Given the description of an element on the screen output the (x, y) to click on. 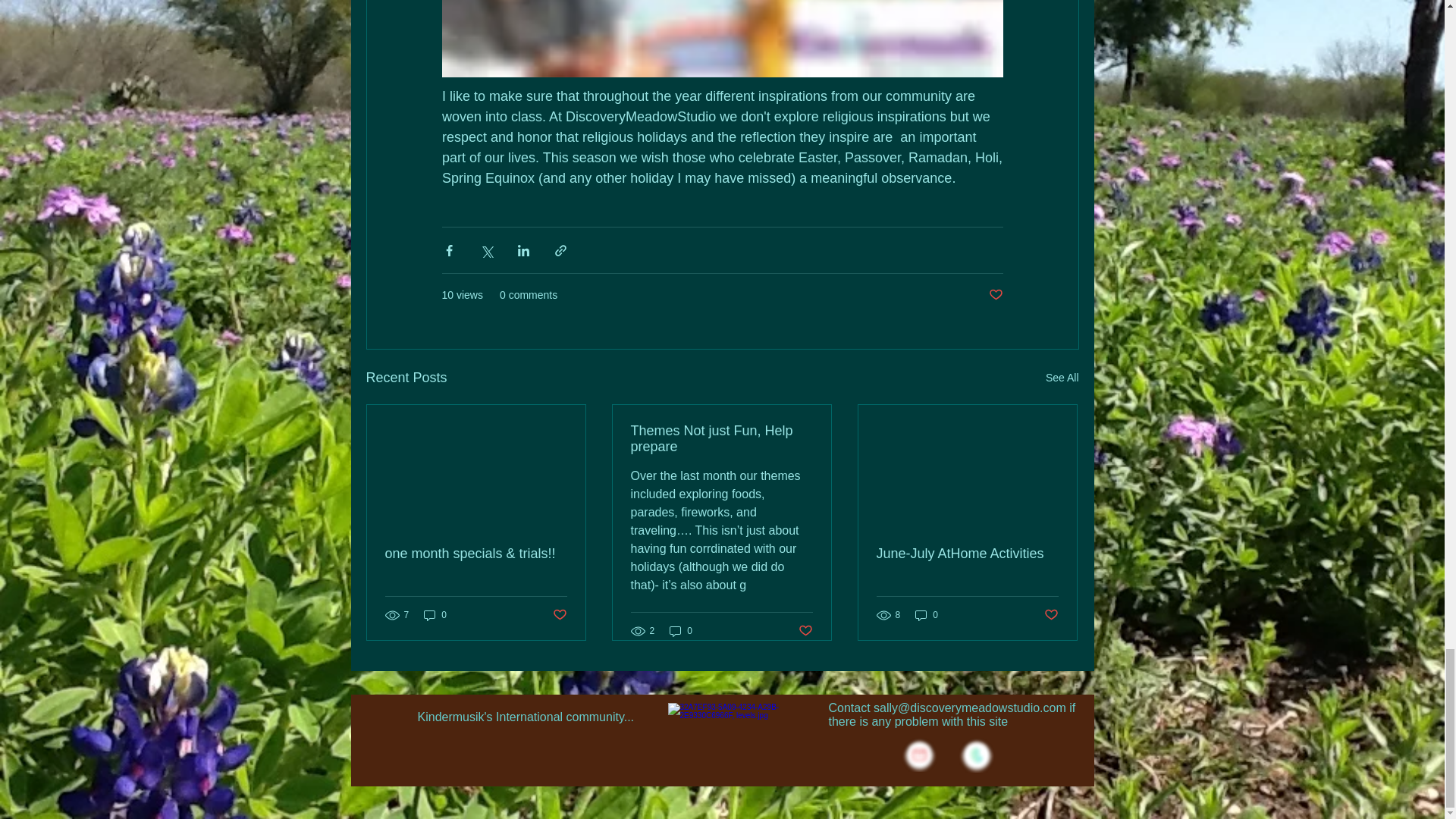
Post not marked as liked (1050, 615)
0 (435, 615)
0 (926, 615)
Themes Not just Fun, Help prepare (721, 439)
Post not marked as liked (804, 631)
June-July AtHome Activities (967, 553)
See All (1061, 377)
0 (681, 631)
Post not marked as liked (558, 615)
Post not marked as liked (995, 295)
